Given the description of an element on the screen output the (x, y) to click on. 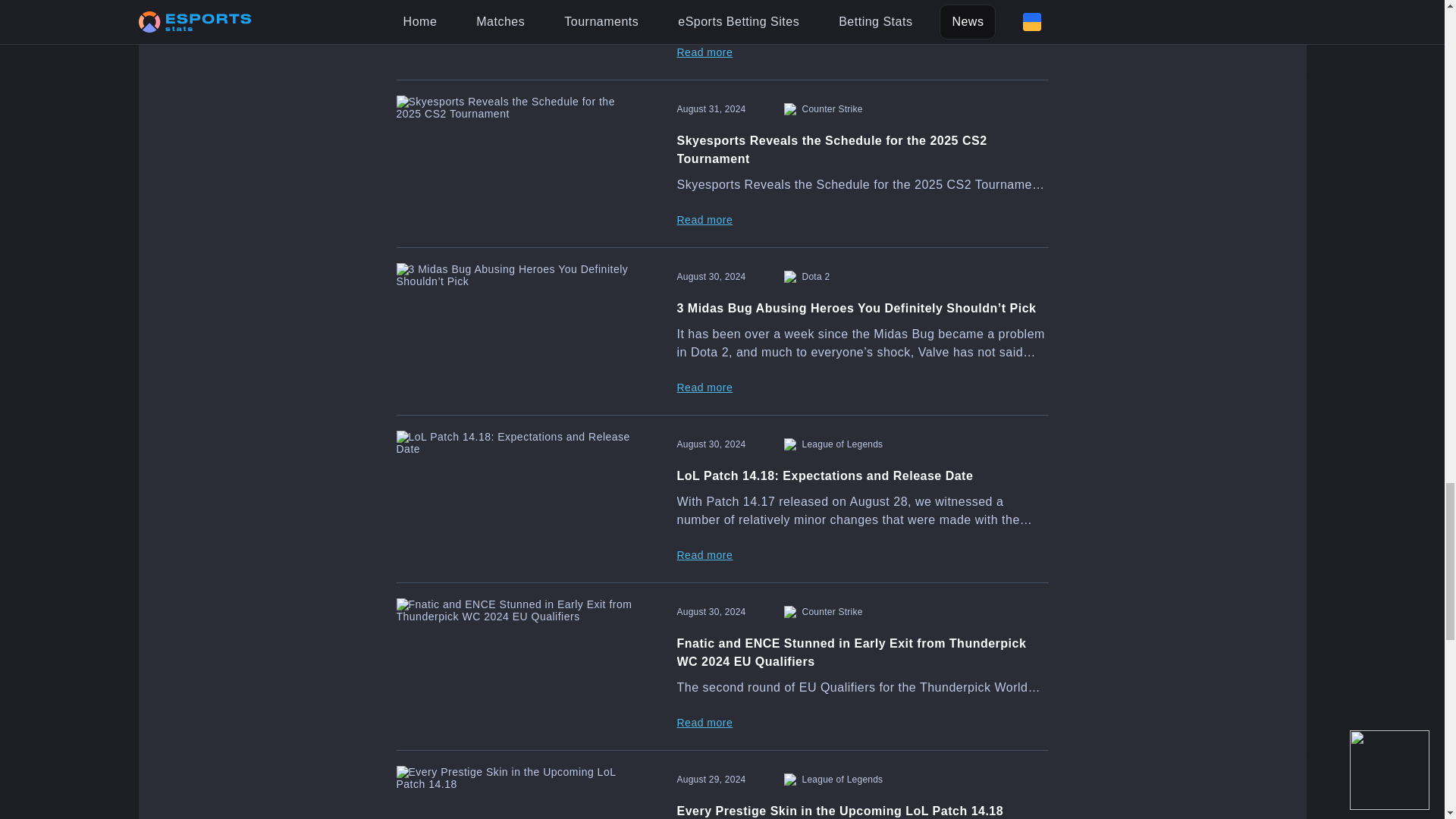
LoL Patch 14.18: Preview, Release Date, and What to Expect (722, 40)
LoL Patch 14.18: Preview, Release Date, and What to Expect (517, 32)
